Given the description of an element on the screen output the (x, y) to click on. 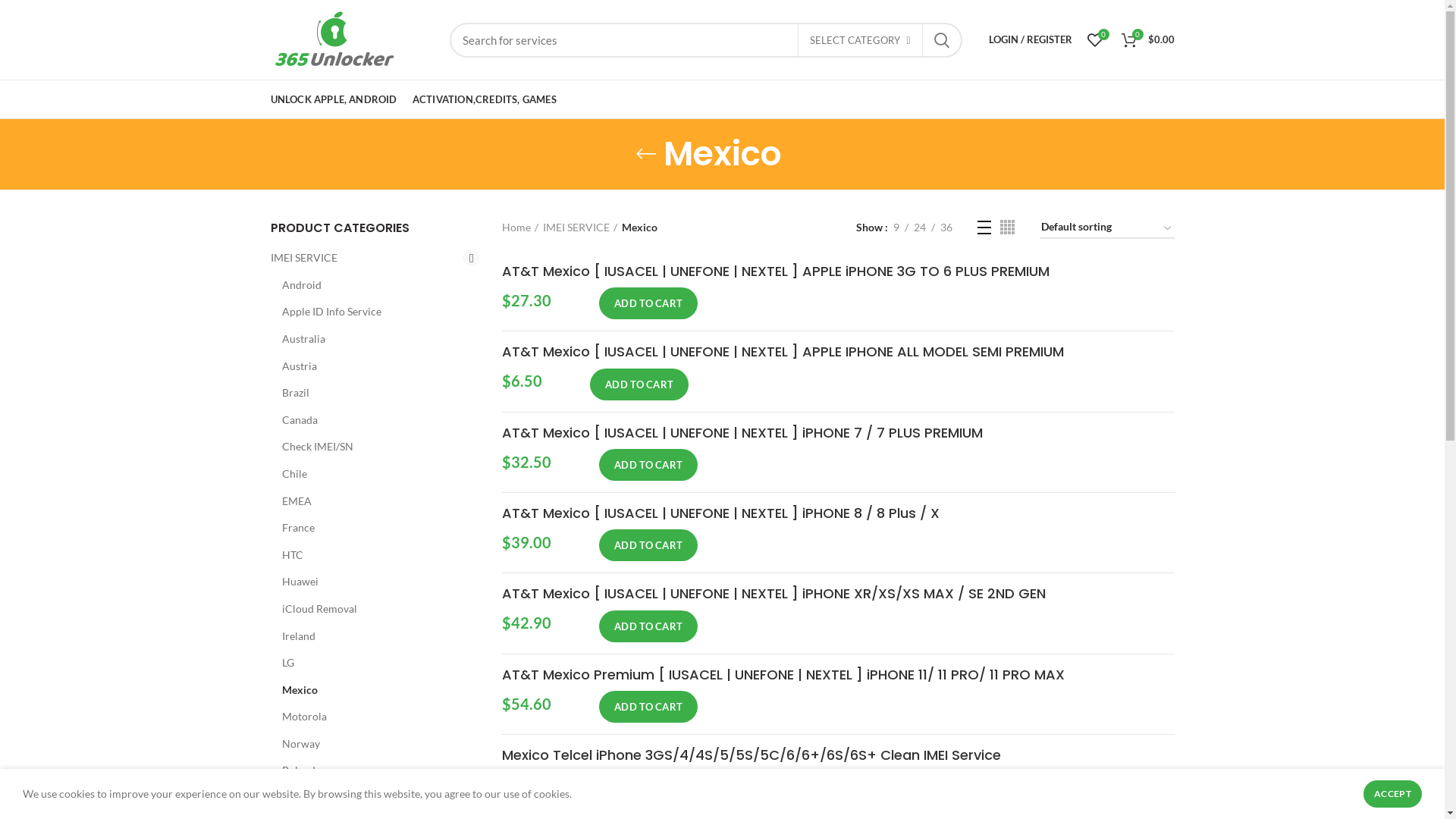
UNLOCK APPLE, ANDROID Element type: text (333, 99)
ADD TO CART Element type: text (648, 626)
iCloud Removal Element type: text (371, 608)
Android Element type: text (371, 284)
ADD TO CART Element type: text (648, 787)
LG Element type: text (371, 662)
0 Element type: text (1094, 39)
Chile Element type: text (371, 473)
SEARCH Element type: text (941, 39)
9 Element type: text (895, 227)
EMEA Element type: text (371, 500)
Poland Element type: text (371, 770)
Romania Element type: text (371, 797)
ADD TO CART Element type: text (648, 464)
Canada Element type: text (371, 419)
Mexico Element type: text (371, 689)
ADD TO CART Element type: text (648, 545)
Motorola Element type: text (371, 716)
Brazil Element type: text (371, 392)
ADD TO CART Element type: text (648, 303)
36 Element type: text (945, 227)
Huawei Element type: text (371, 581)
ACCEPT Element type: text (1392, 793)
Australia Element type: text (371, 338)
0
$0.00 Element type: text (1147, 39)
24 Element type: text (919, 227)
ADD TO CART Element type: text (638, 384)
IMEI SERVICE Element type: text (579, 227)
LOGIN / REGISTER Element type: text (1030, 39)
Austria Element type: text (371, 365)
SELECT CATEGORY Element type: text (859, 40)
Apple ID Info Service Element type: text (371, 311)
ACTIVATION,CREDITS, GAMES Element type: text (484, 99)
ADD TO CART Element type: text (648, 706)
IMEI SERVICE Element type: text (364, 257)
Norway Element type: text (371, 743)
Ireland Element type: text (371, 635)
HTC Element type: text (371, 554)
Home Element type: text (520, 227)
France Element type: text (371, 527)
Check IMEI/SN Element type: text (371, 446)
